Given the description of an element on the screen output the (x, y) to click on. 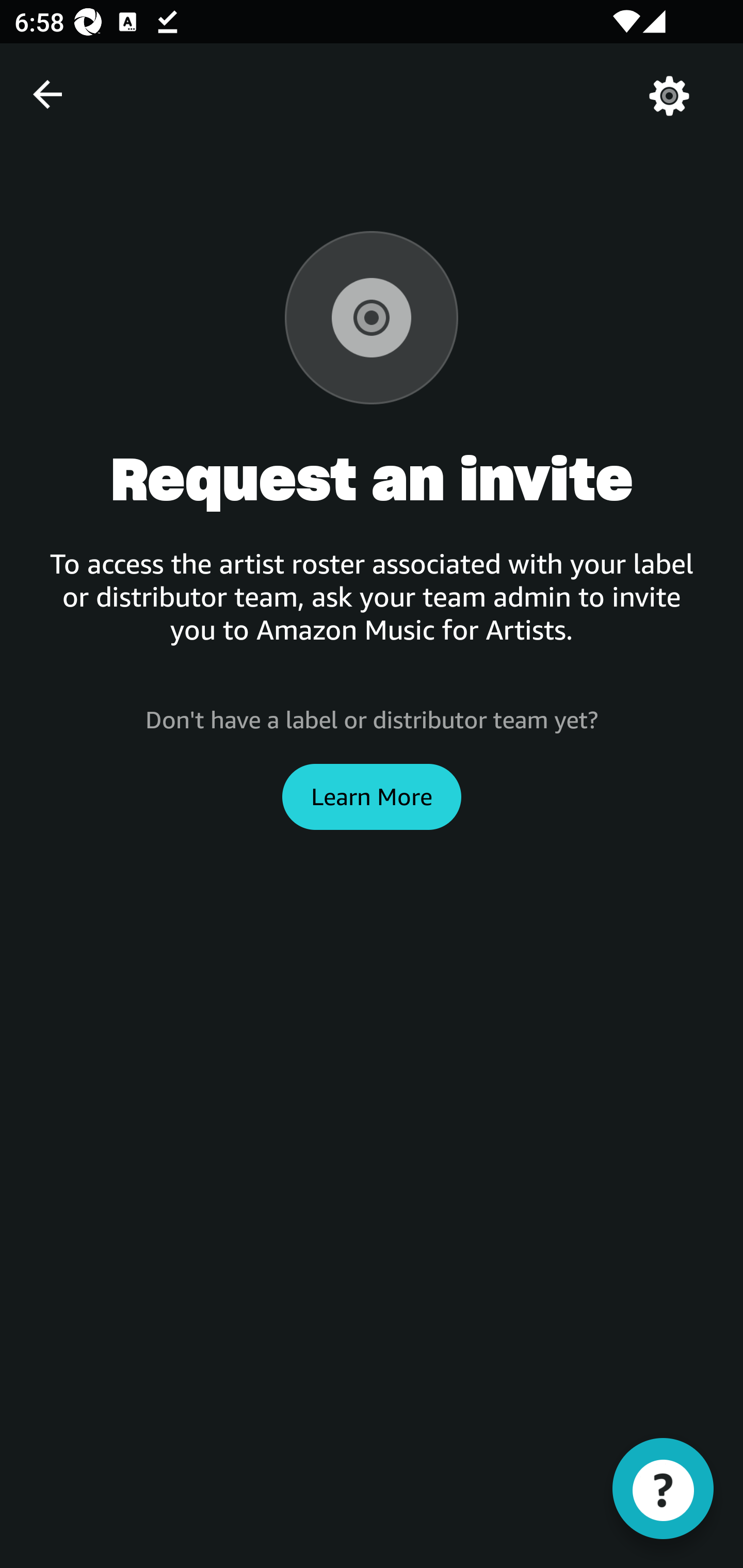
ArtistSelect, back (47, 93)
Learn more button Learn More (371, 796)
